Given the description of an element on the screen output the (x, y) to click on. 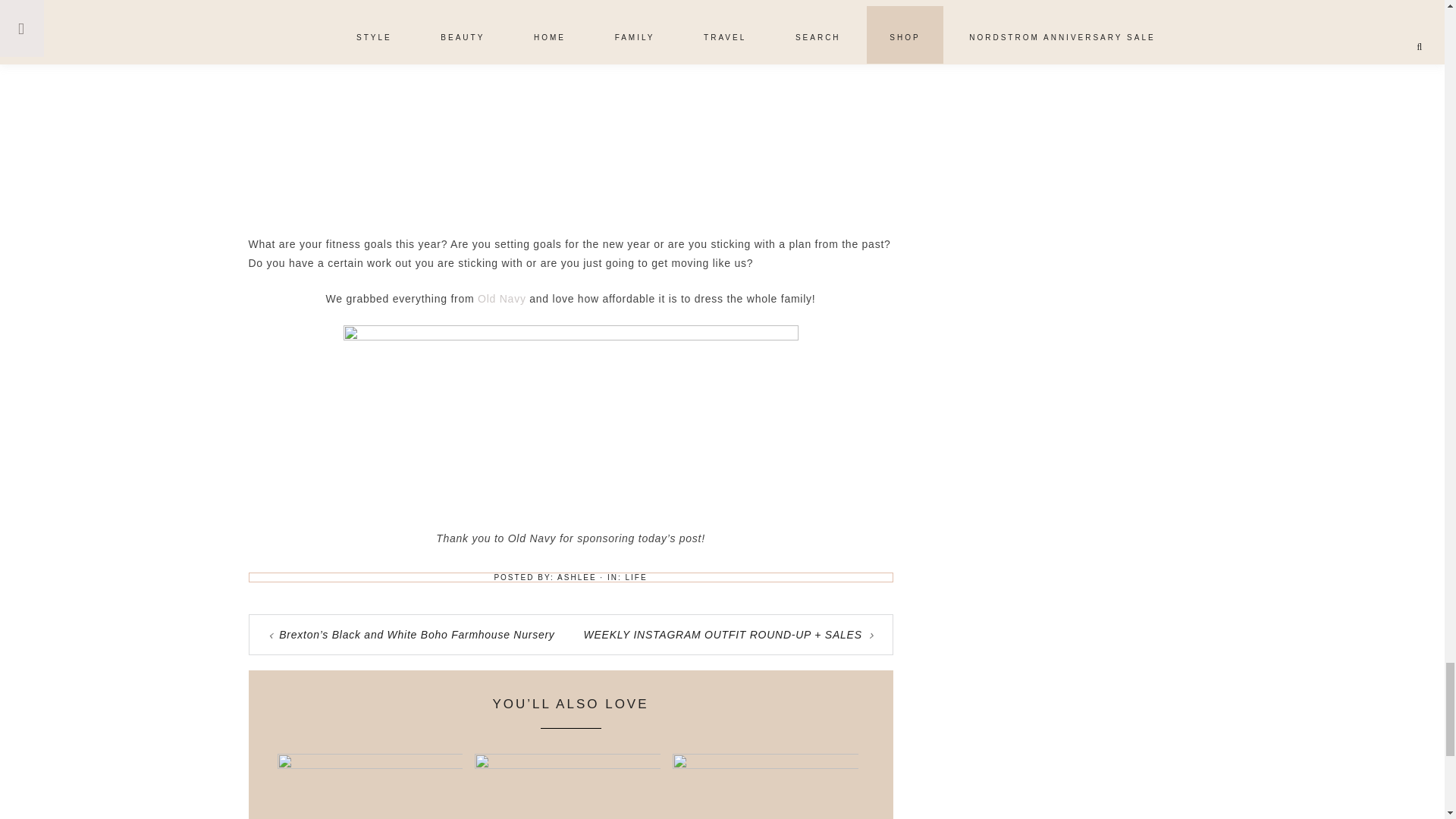
Permanent Link to Victoria Emerson Summer Sale (567, 765)
Permanent Link to Victoria Emerson Buy One Get One Fall Sale (370, 765)
Permanent Link to Victoria Emerson Memorial Day Sale (765, 765)
